Given the description of an element on the screen output the (x, y) to click on. 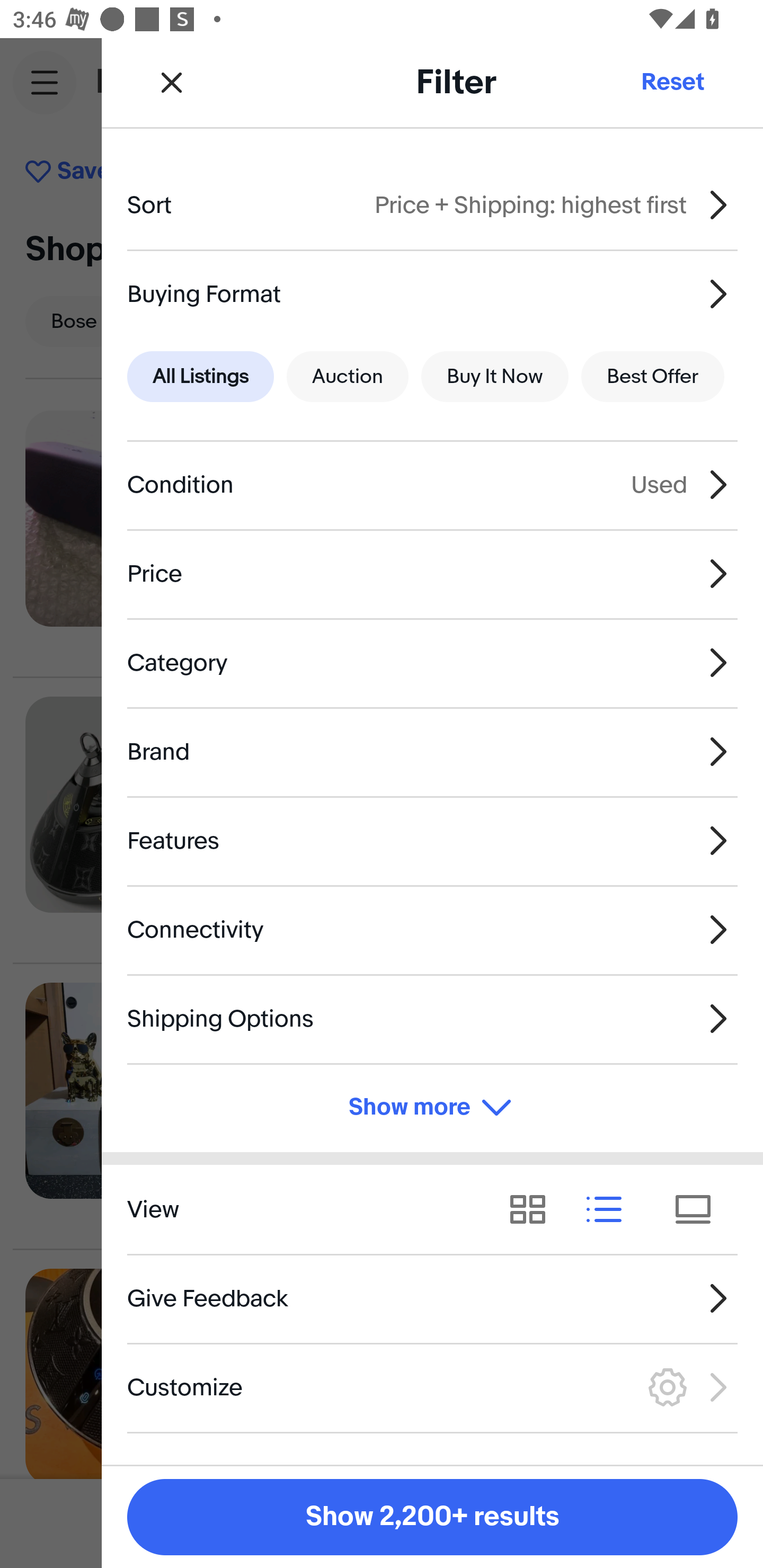
Close Filter (171, 81)
Reset (672, 81)
Buying Format (432, 293)
All Listings (200, 376)
Auction (347, 376)
Buy It Now (494, 376)
Best Offer (652, 376)
Condition Used (432, 484)
Price (432, 573)
Category (432, 662)
Brand (432, 751)
Features (432, 840)
Connectivity (432, 929)
Shipping Options (432, 1018)
Show more (432, 1107)
View results as grid (533, 1209)
View results as list (610, 1209)
View results as tiles (699, 1209)
Customize (432, 1386)
Show 2,200+ results (432, 1516)
